Given the description of an element on the screen output the (x, y) to click on. 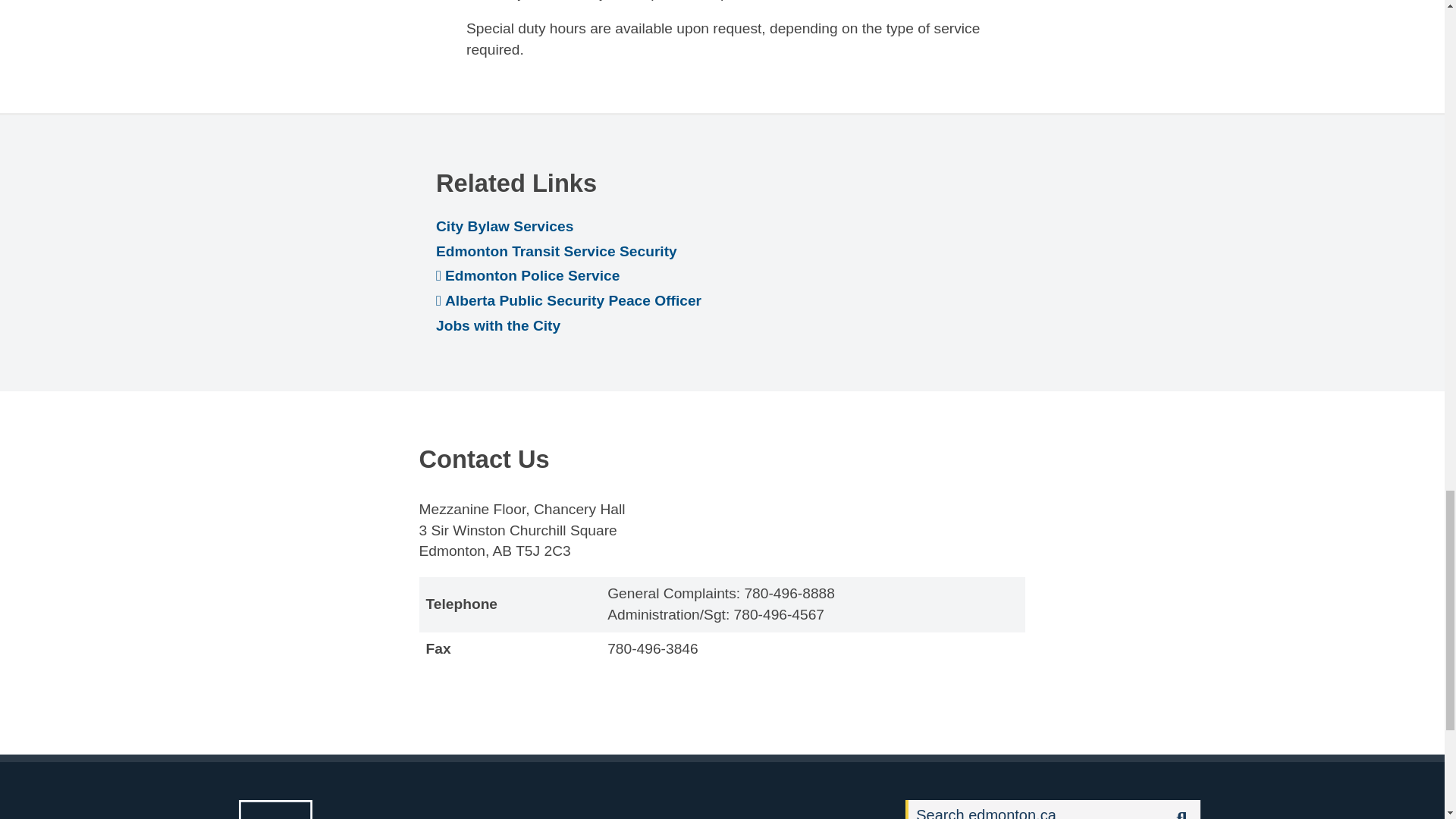
City Bylaw Services (504, 226)
Search (1034, 809)
